Given the description of an element on the screen output the (x, y) to click on. 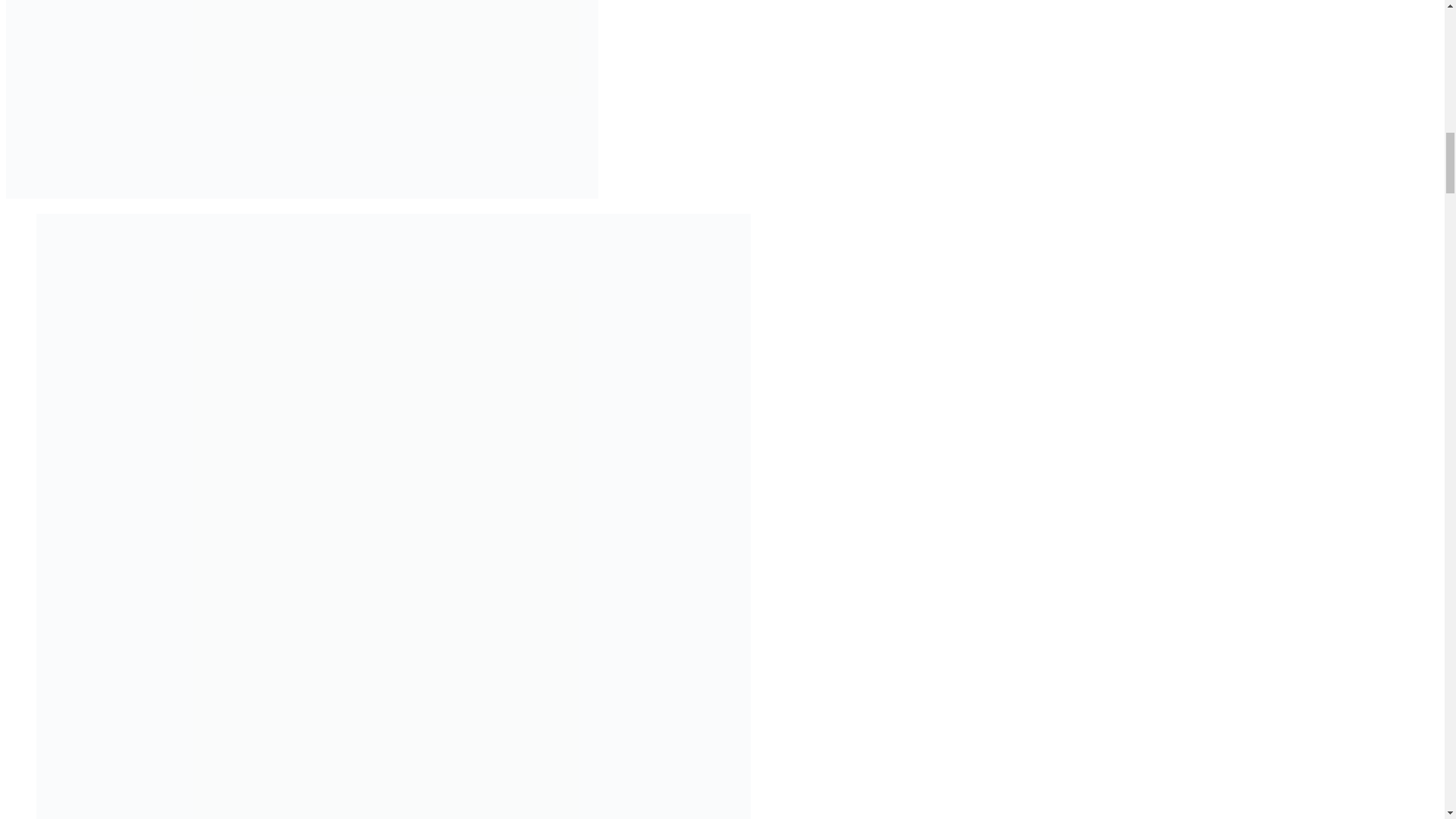
Infografic How To Propagate Fiddle Leaf Fig (301, 194)
